Given the description of an element on the screen output the (x, y) to click on. 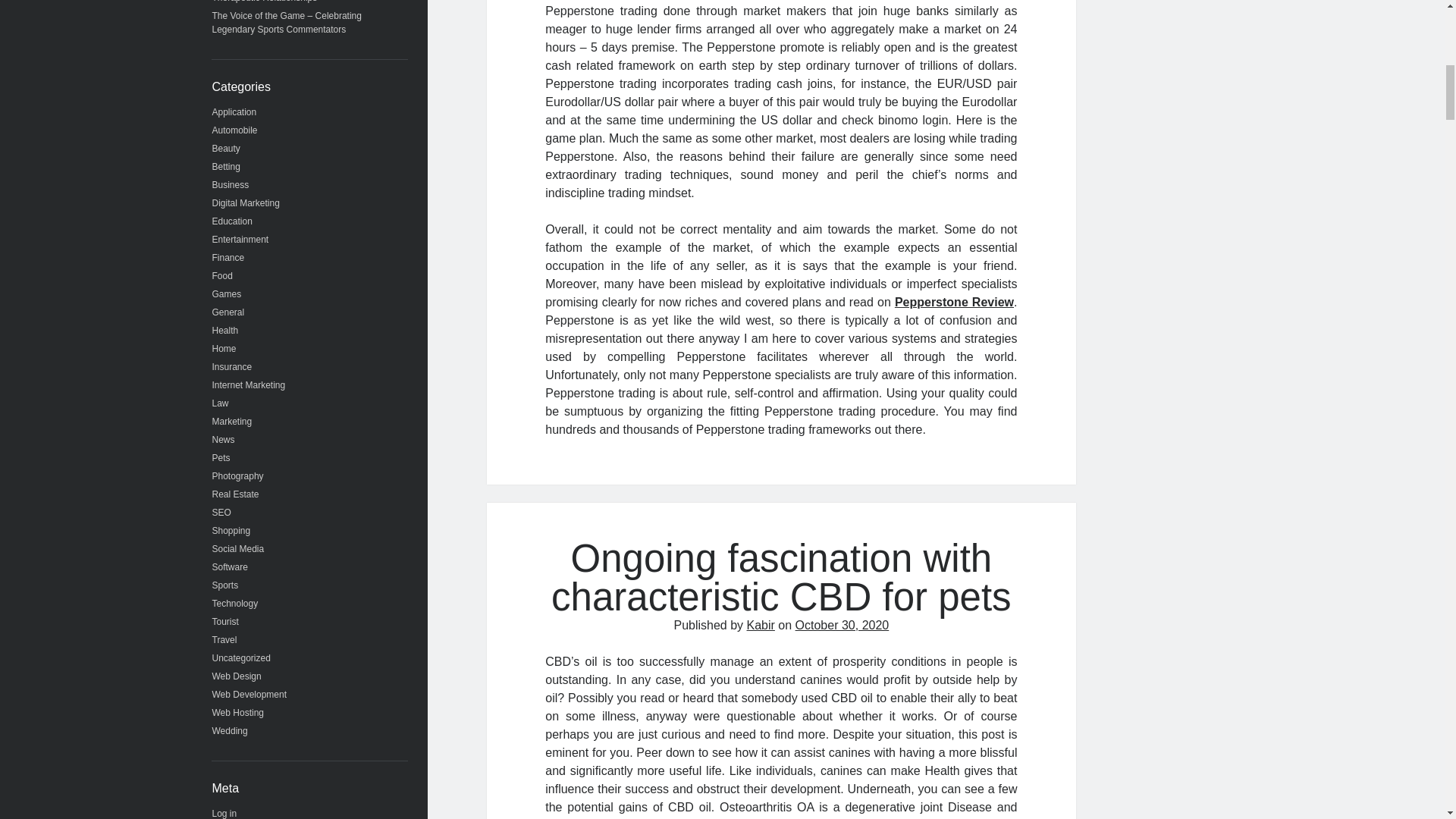
Betting (226, 166)
Sports (225, 584)
Pets (221, 457)
Business (230, 184)
Real Estate (235, 493)
Beauty (226, 148)
Finance (228, 257)
Application (234, 112)
Law (220, 403)
Entertainment (240, 239)
